Given the description of an element on the screen output the (x, y) to click on. 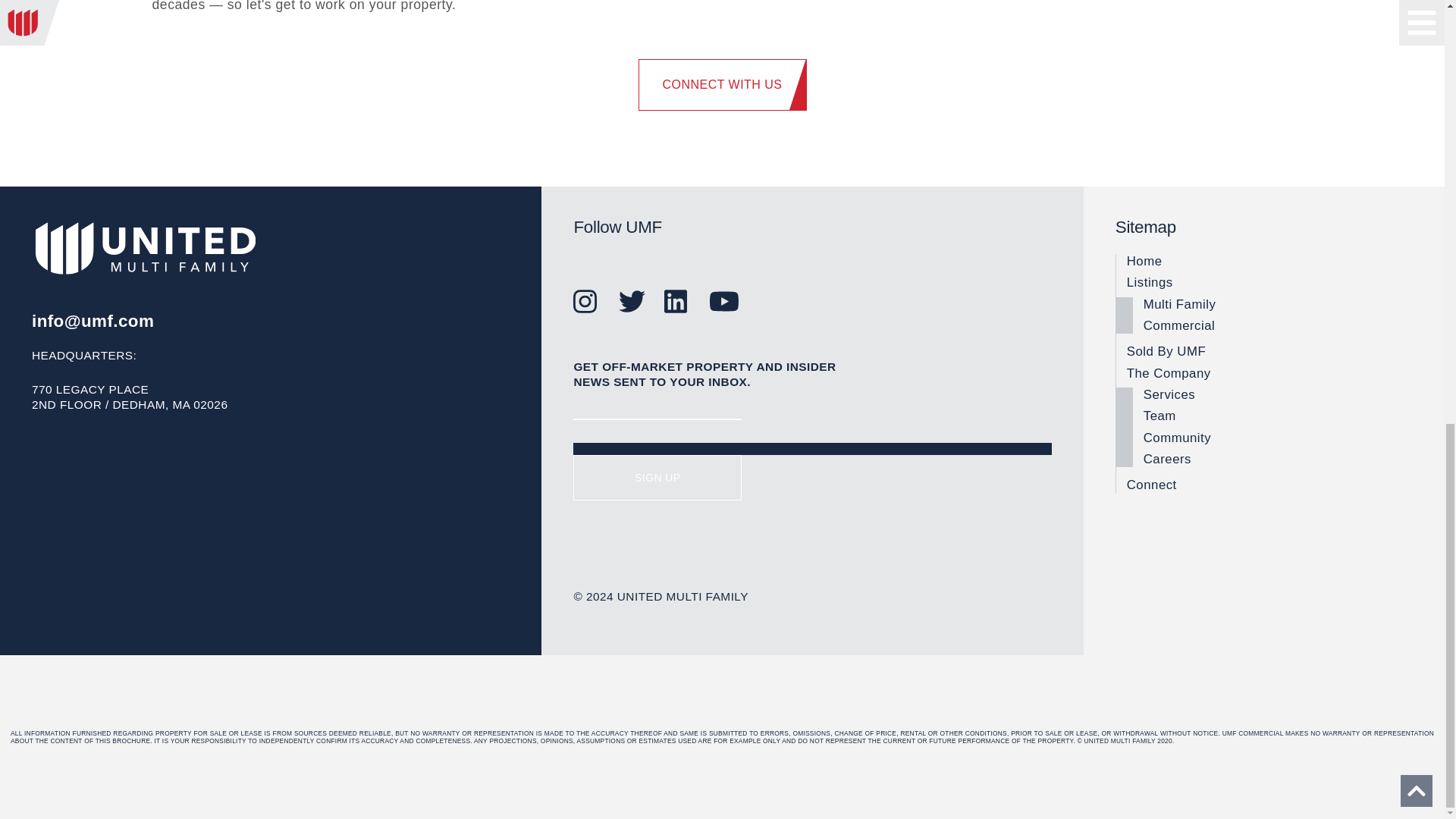
Commercial (1277, 325)
SIGN UP (657, 477)
CONNECT WITH US (722, 84)
Home (1269, 261)
Connect (1269, 485)
Services (1277, 394)
Multi Family (1277, 304)
Careers (1277, 459)
Listings (1269, 282)
Team (1277, 416)
Sold By UMF (1269, 351)
Community (1277, 437)
The Company (1269, 373)
